Given the description of an element on the screen output the (x, y) to click on. 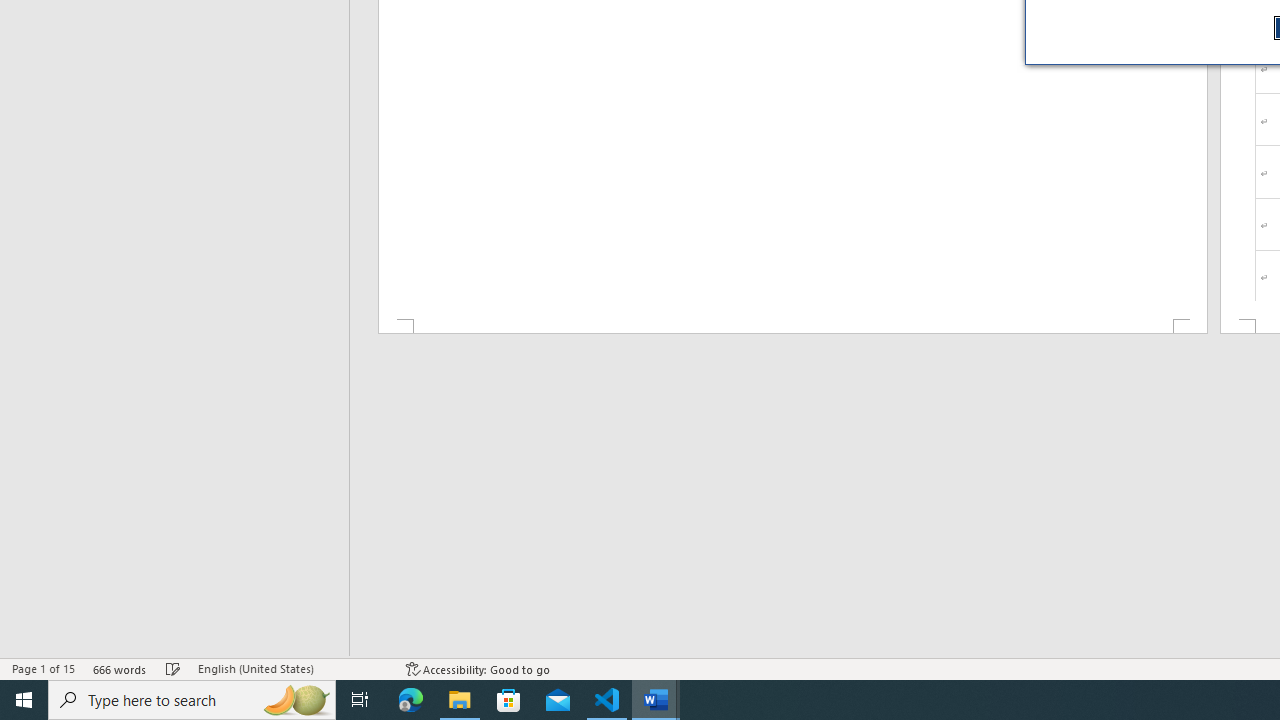
Visual Studio Code - 1 running window (607, 699)
Accessibility Checker Accessibility: Good to go (478, 668)
File Explorer - 1 running window (460, 699)
Word - 2 running windows (656, 699)
Task View (359, 699)
Search highlights icon opens search home window (295, 699)
Microsoft Edge (411, 699)
Start (24, 699)
Footer -Section 1- (792, 326)
Type here to search (191, 699)
Microsoft Store (509, 699)
Page Number Page 1 of 15 (43, 668)
Spelling and Grammar Check Checking (173, 668)
Language English (United States) (292, 668)
